Given the description of an element on the screen output the (x, y) to click on. 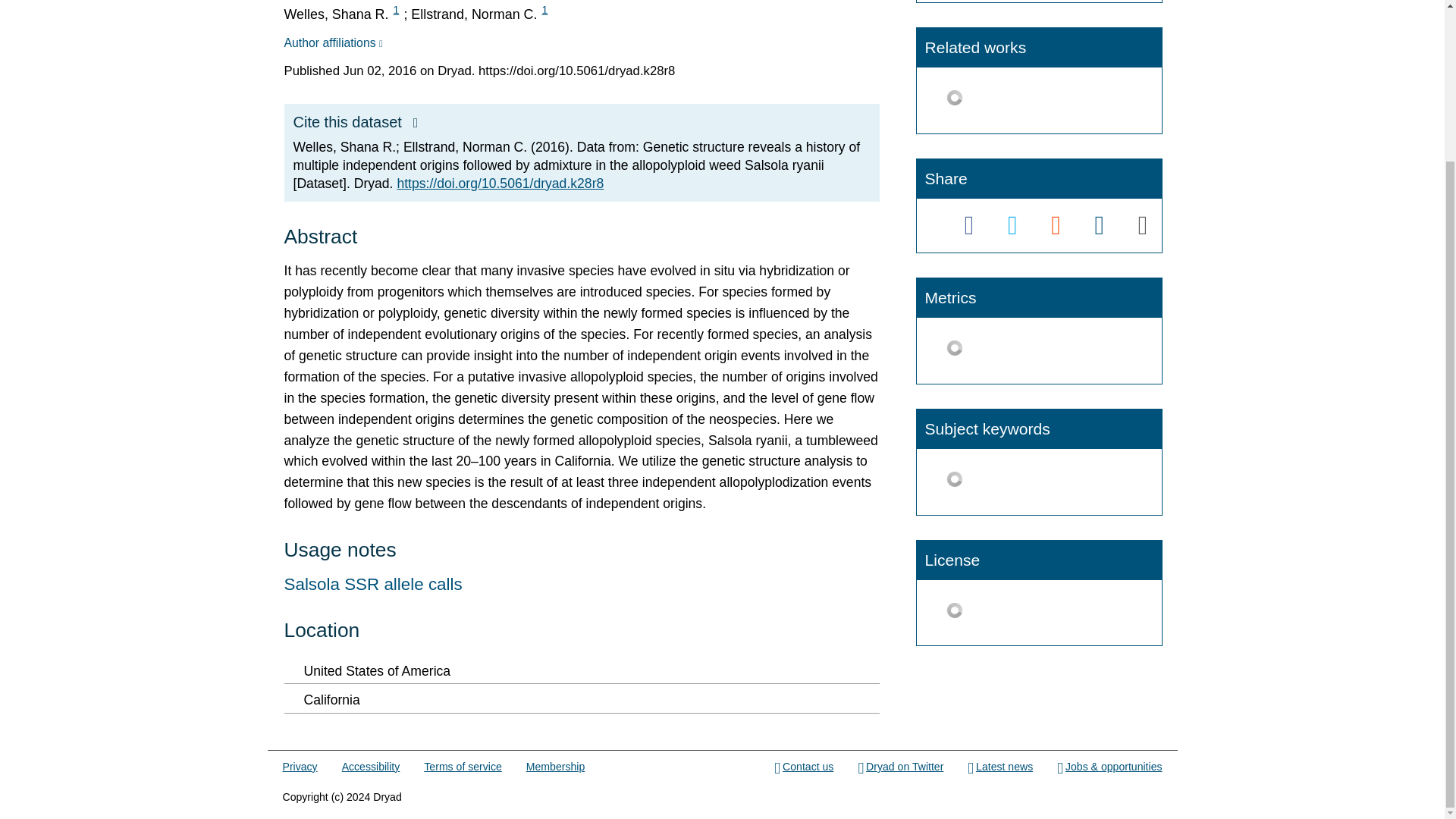
Author affiliations (332, 43)
Contact us (803, 767)
Accessibility (371, 767)
Privacy (299, 767)
Membership (555, 767)
Terms of service (461, 767)
